Given the description of an element on the screen output the (x, y) to click on. 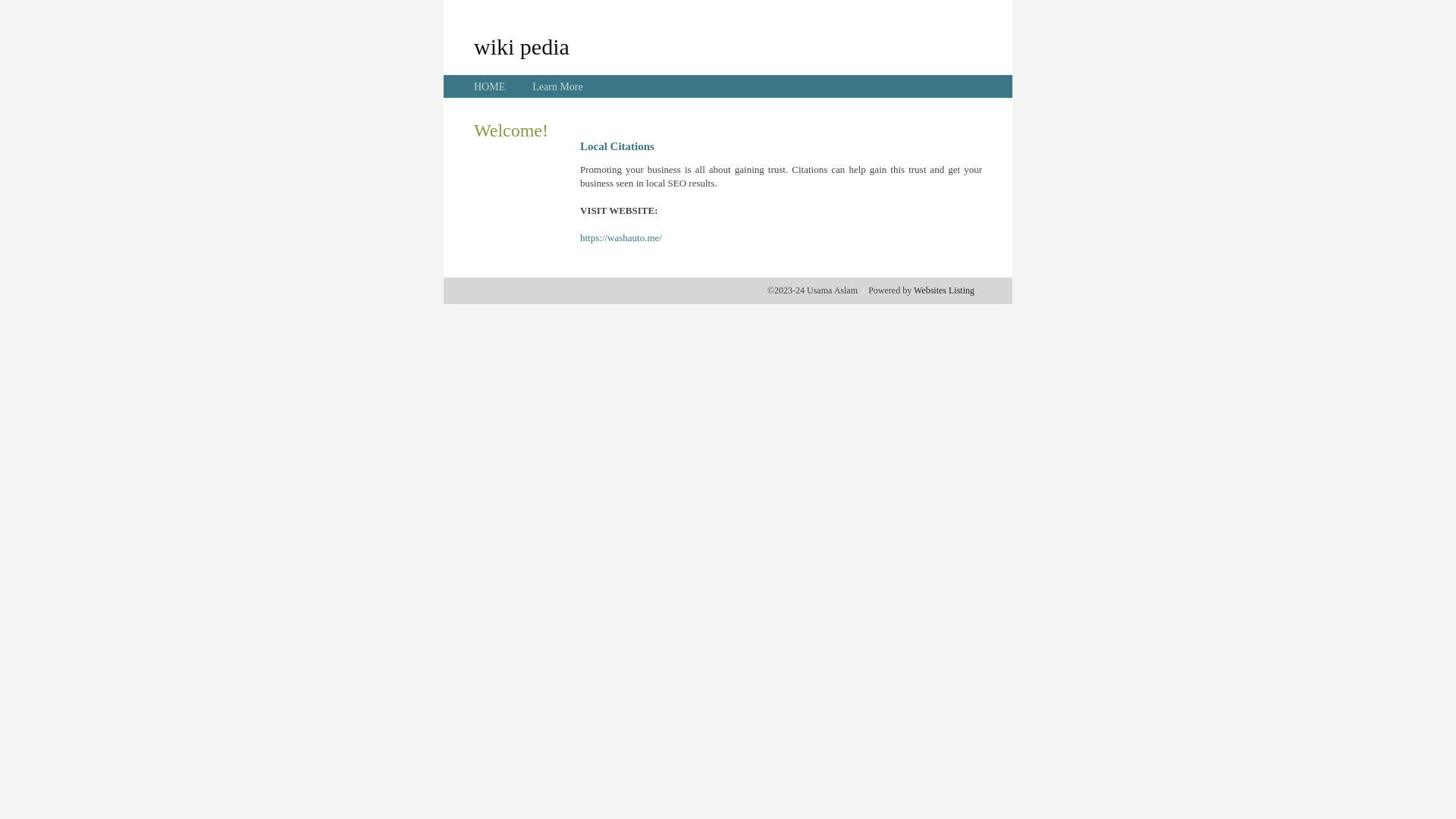
Learn More Element type: text (557, 86)
https://washauto.me/ Element type: text (621, 237)
HOME Element type: text (489, 86)
wiki pedia Element type: text (521, 46)
Websites Listing Element type: text (943, 290)
